Given the description of an element on the screen output the (x, y) to click on. 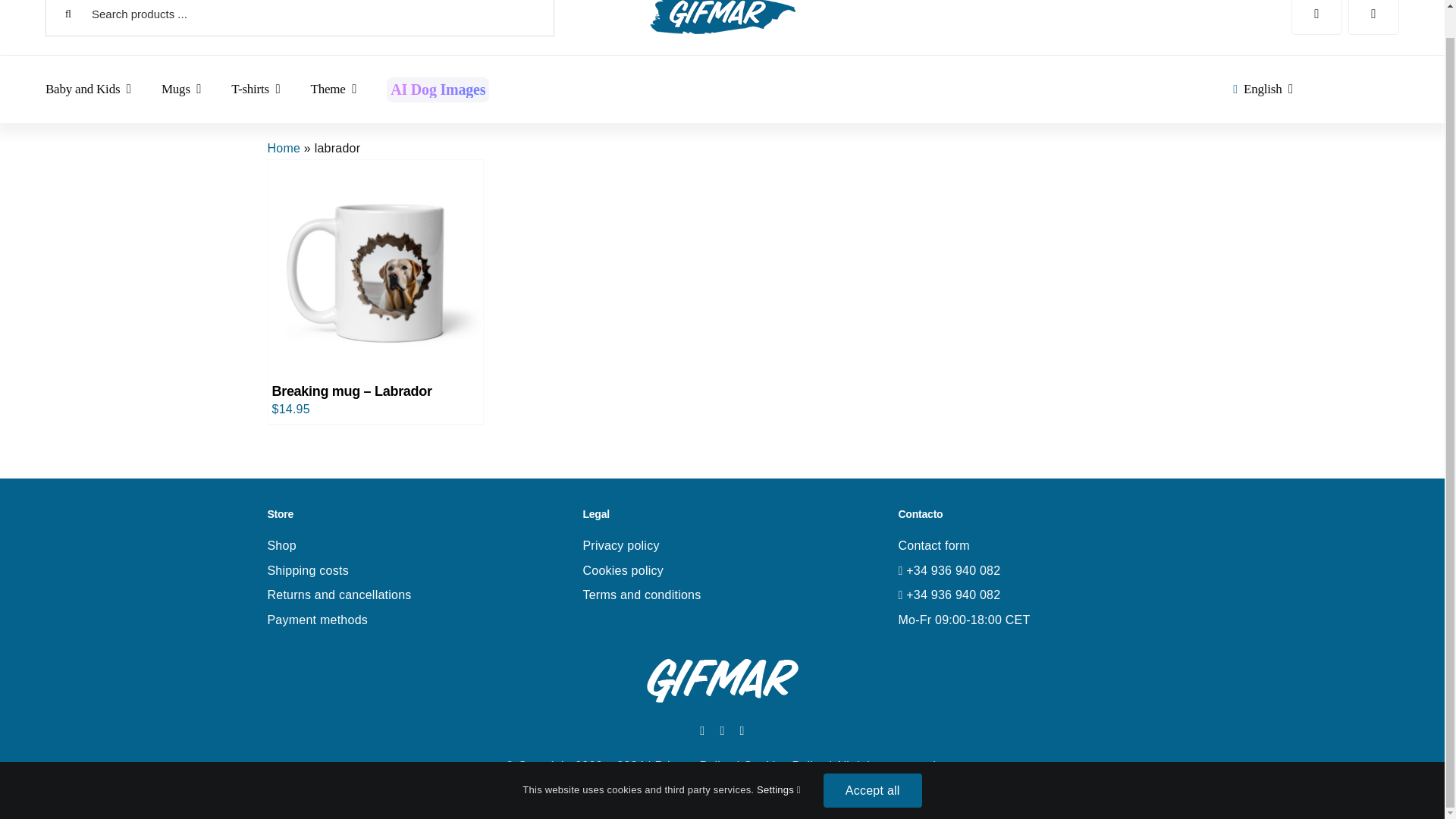
English (1259, 89)
Shop (280, 545)
Baby and Kids (88, 89)
Returns and cancellations (338, 594)
Cookies policy (622, 570)
Payment methods (317, 619)
T-shirts (255, 89)
Theme (333, 89)
Mugs (180, 89)
Shipping costs (306, 570)
